Given the description of an element on the screen output the (x, y) to click on. 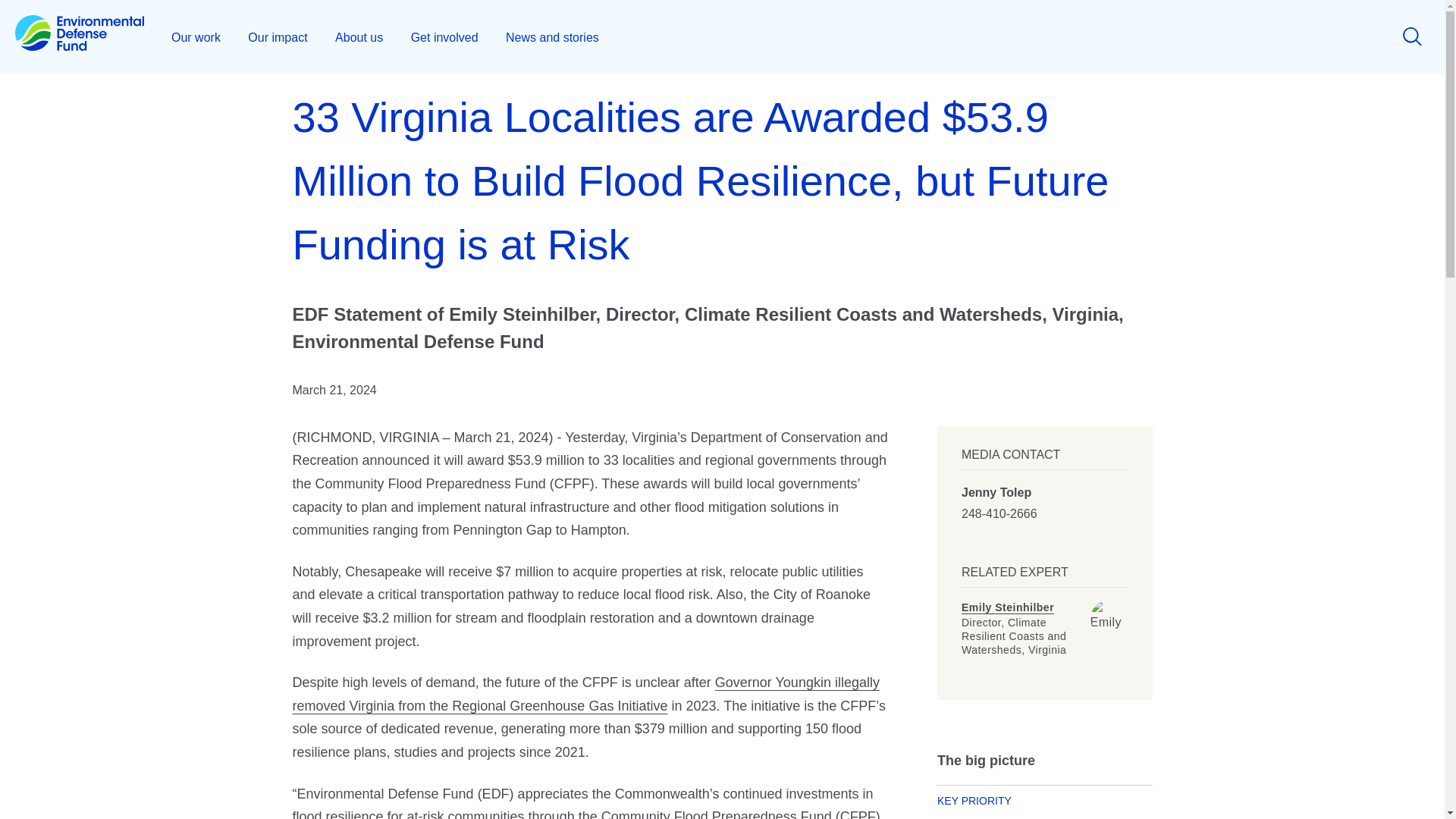
News and stories (552, 36)
About us (358, 36)
Magnifying Glass (1412, 36)
Magnifying Glass (1411, 36)
Our work (195, 36)
Home (79, 36)
Our impact (276, 36)
Environmental Defense Fund (79, 36)
Get involved (444, 36)
